Given the description of an element on the screen output the (x, y) to click on. 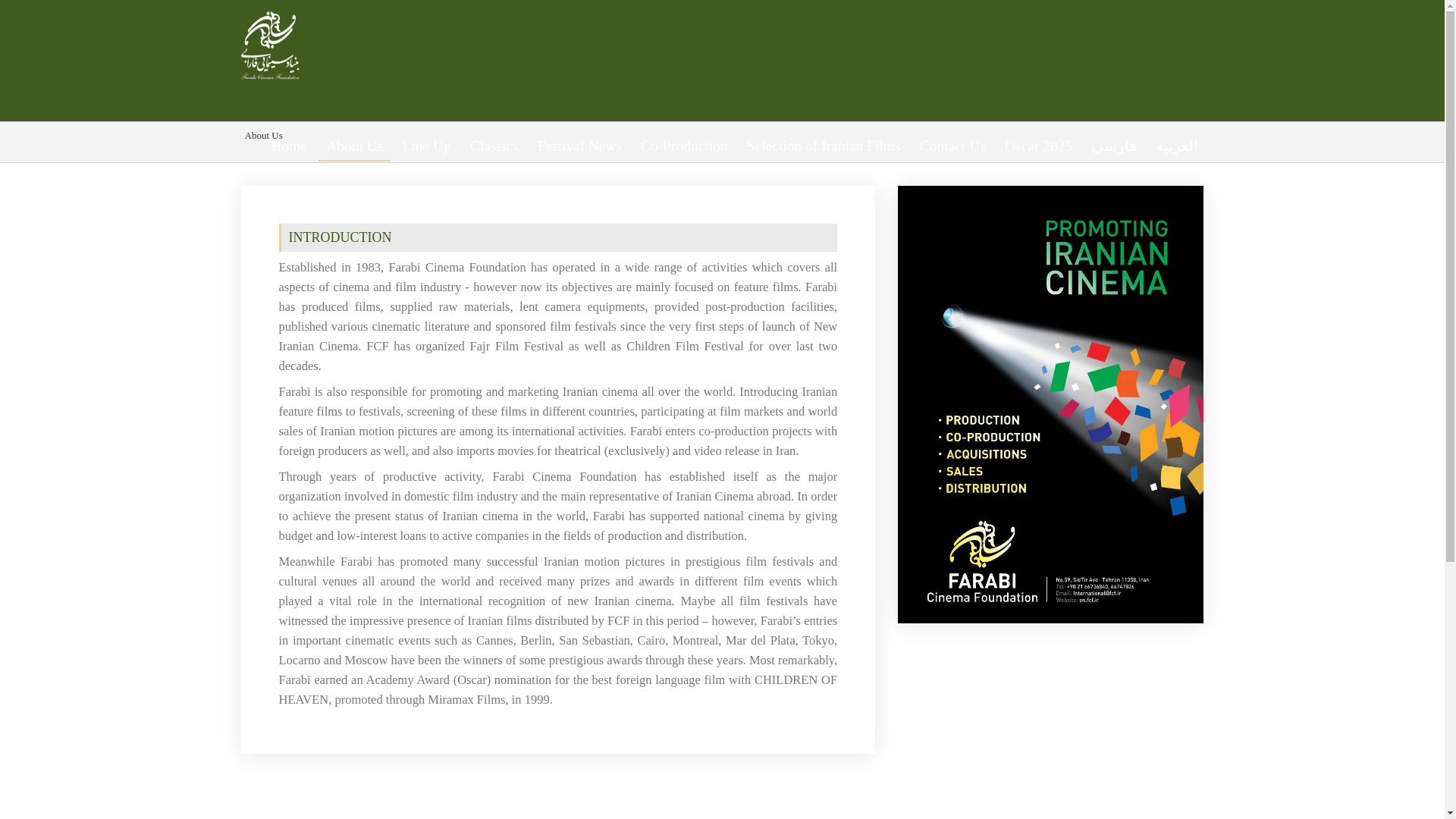
Line Up (426, 146)
Oscar 2025 (1038, 146)
Contact Us (952, 146)
Home (289, 146)
Selection of Iranian Films (823, 146)
About Us (263, 135)
Classics (494, 146)
Co-Production (684, 146)
About Us (354, 146)
Festival News (578, 146)
